Given the description of an element on the screen output the (x, y) to click on. 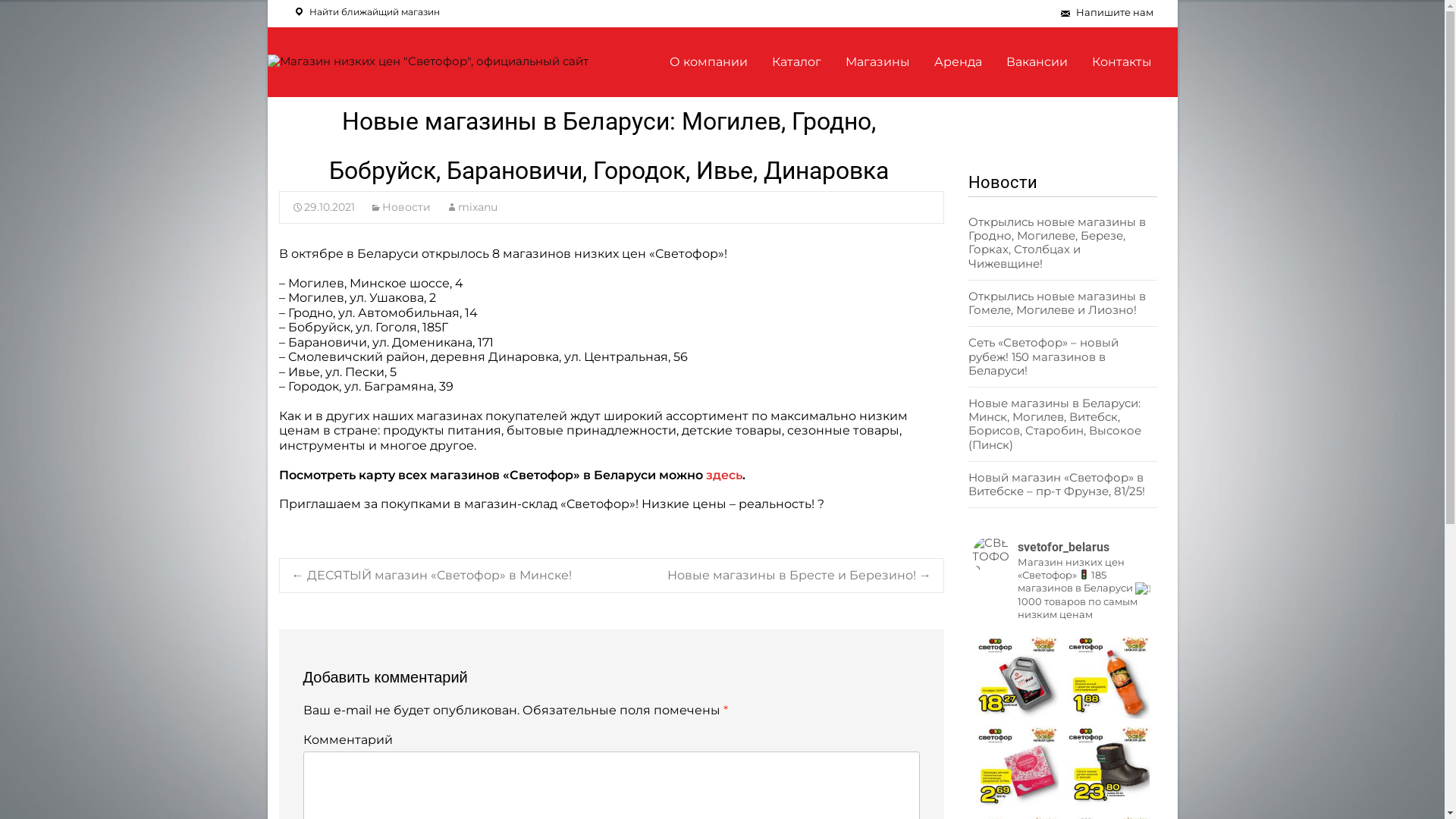
29.10.2021 Element type: text (322, 206)
mixanu Element type: text (471, 206)
